Given the description of an element on the screen output the (x, y) to click on. 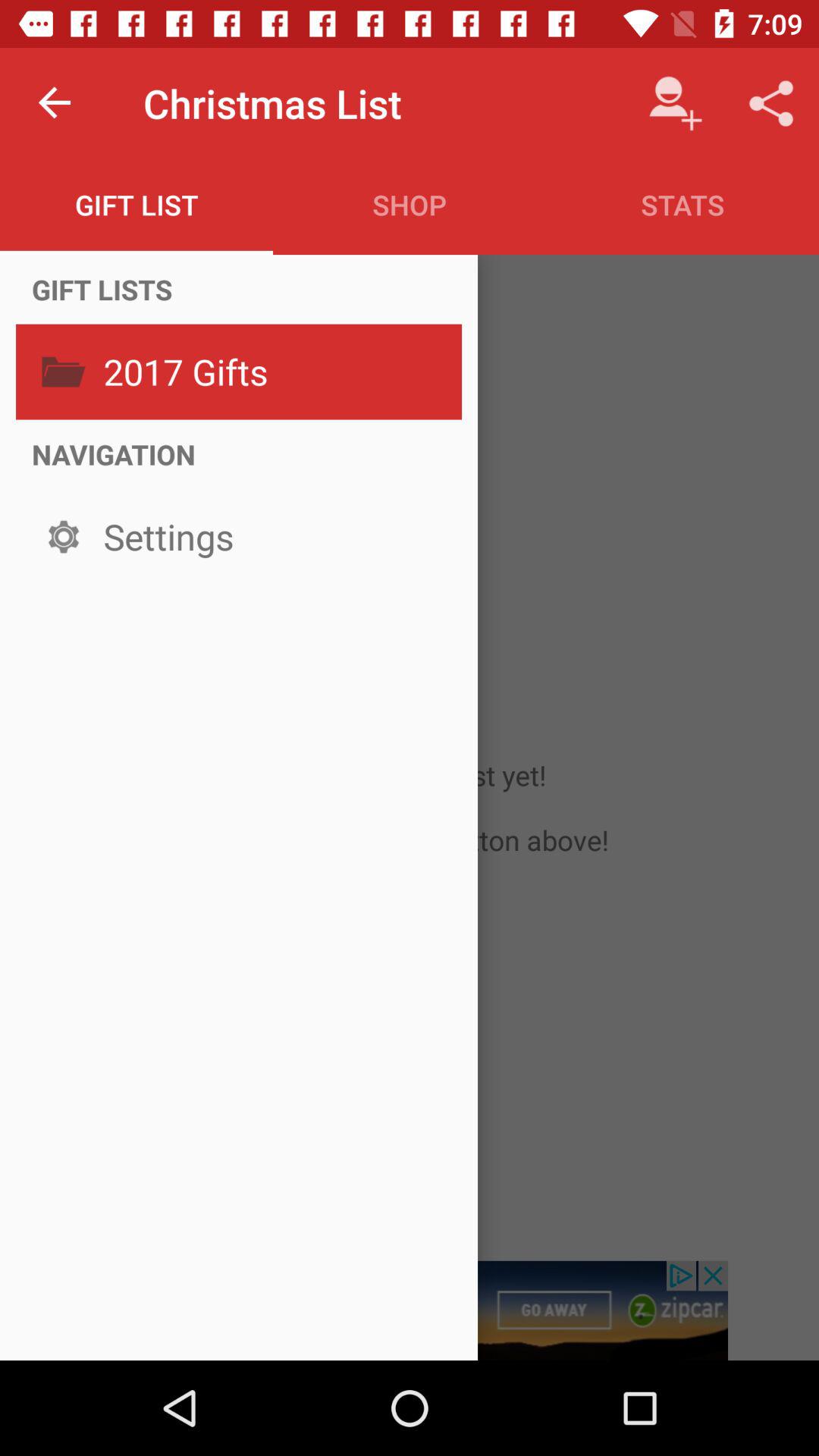
launch icon next to the shop icon (136, 204)
